Given the description of an element on the screen output the (x, y) to click on. 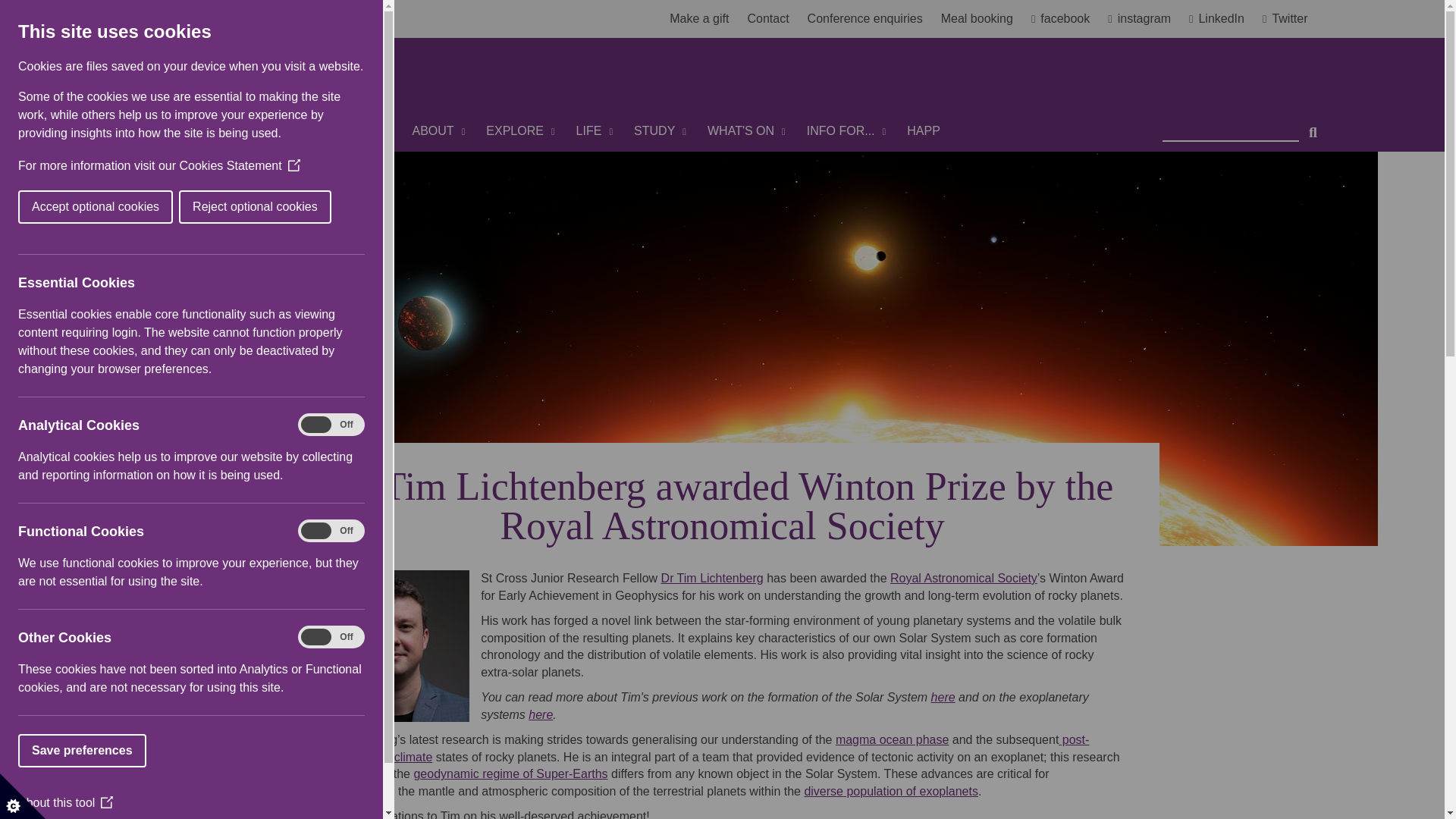
EXPLORE (520, 131)
HOME (372, 131)
Meal booking (976, 19)
Contact (773, 19)
Contact (773, 19)
ABOUT (438, 131)
Reject optional cookies (49, 206)
Make a gift (705, 19)
LinkedIn (1222, 19)
Twitter (1284, 19)
Conference enquiries (871, 19)
facebook (1066, 19)
Search (1312, 126)
Enter the terms you wish to search for (1229, 126)
instagram (1145, 19)
